Given the description of an element on the screen output the (x, y) to click on. 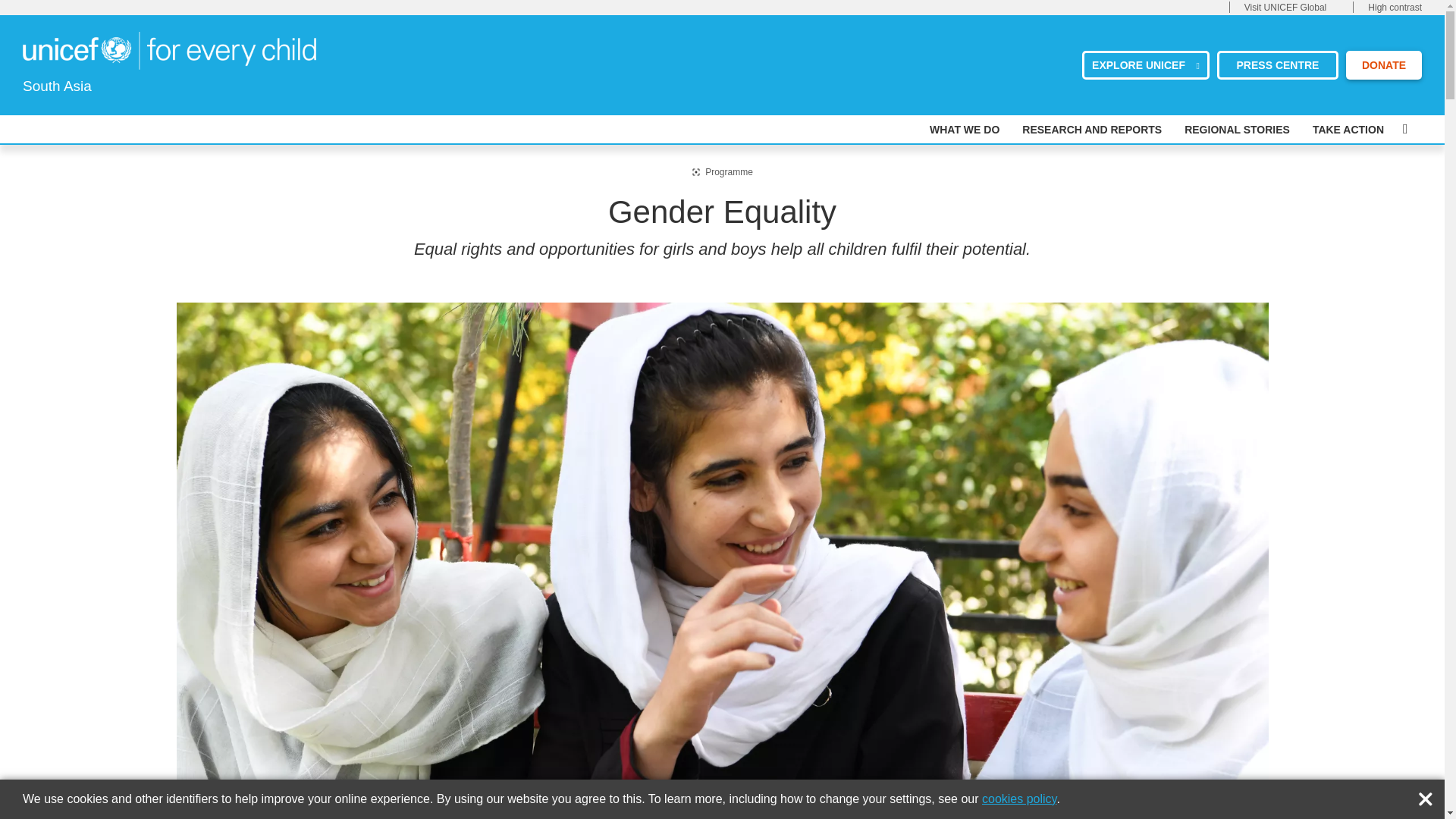
REGIONAL STORIES (1237, 129)
RESEARCH AND REPORTS (1091, 129)
TAKE ACTION (1348, 129)
High contrast (1395, 7)
Ok (1428, 794)
South Asia (169, 50)
DONATE (1383, 63)
PRESS CENTRE (1277, 63)
UNICEF (169, 49)
